Given the description of an element on the screen output the (x, y) to click on. 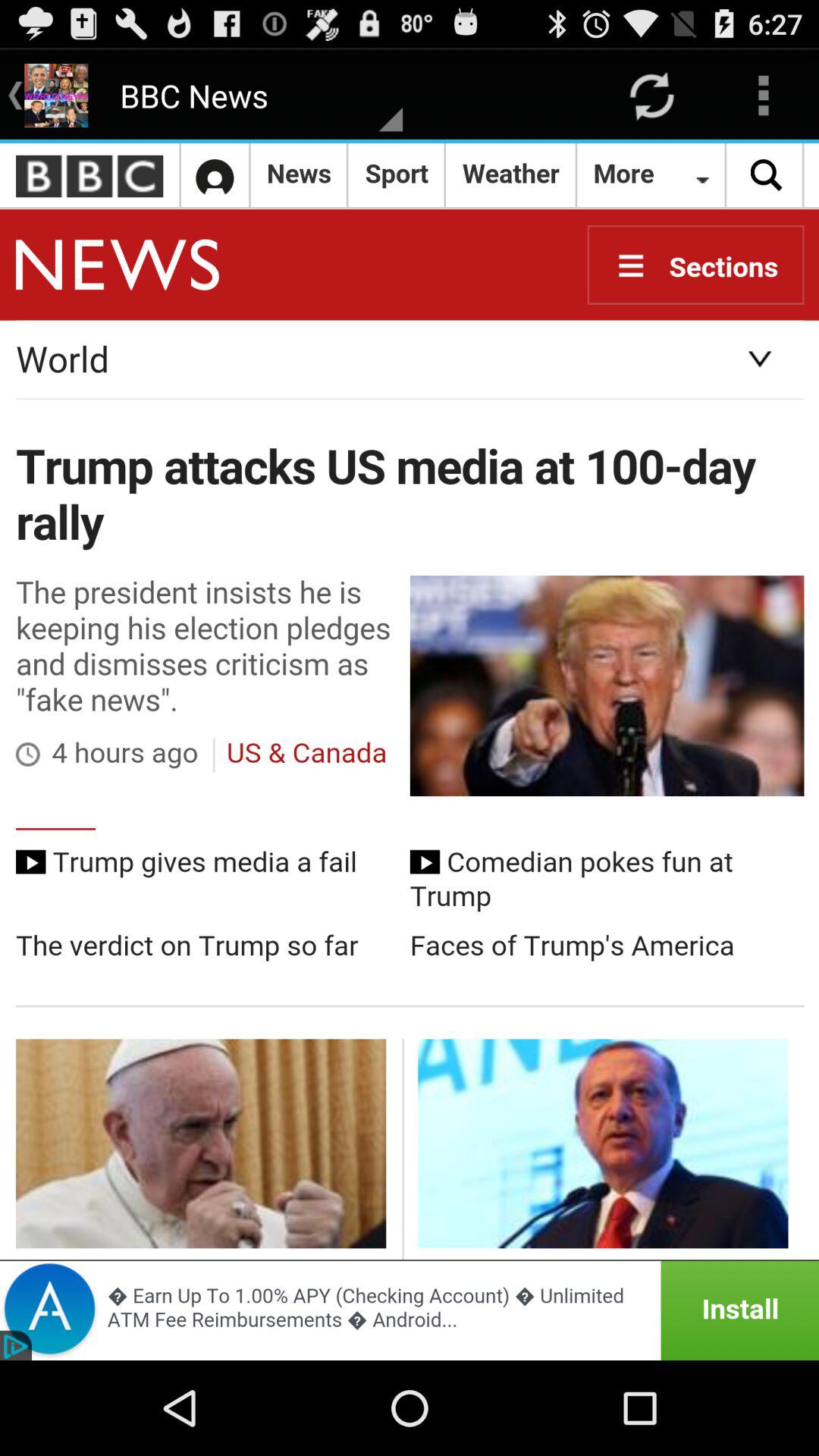
advertisement for installing programs (409, 1310)
